Given the description of an element on the screen output the (x, y) to click on. 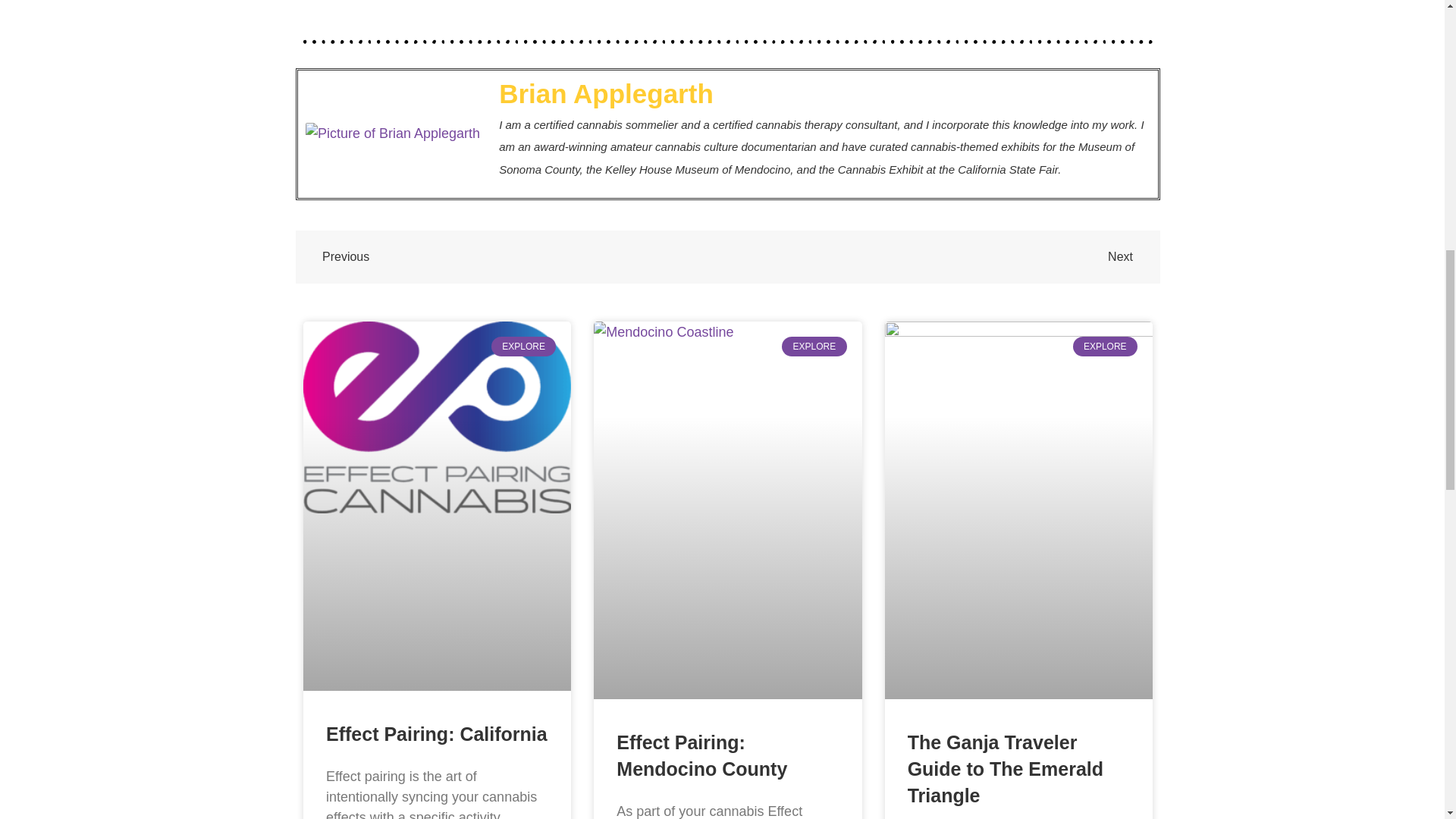
Brian Applegarth (824, 93)
Effect Pairing: California (436, 733)
Effect Pairing: Mendocino County (701, 755)
The Ganja Traveler Guide to The Emerald Triangle (1005, 768)
